Given the description of an element on the screen output the (x, y) to click on. 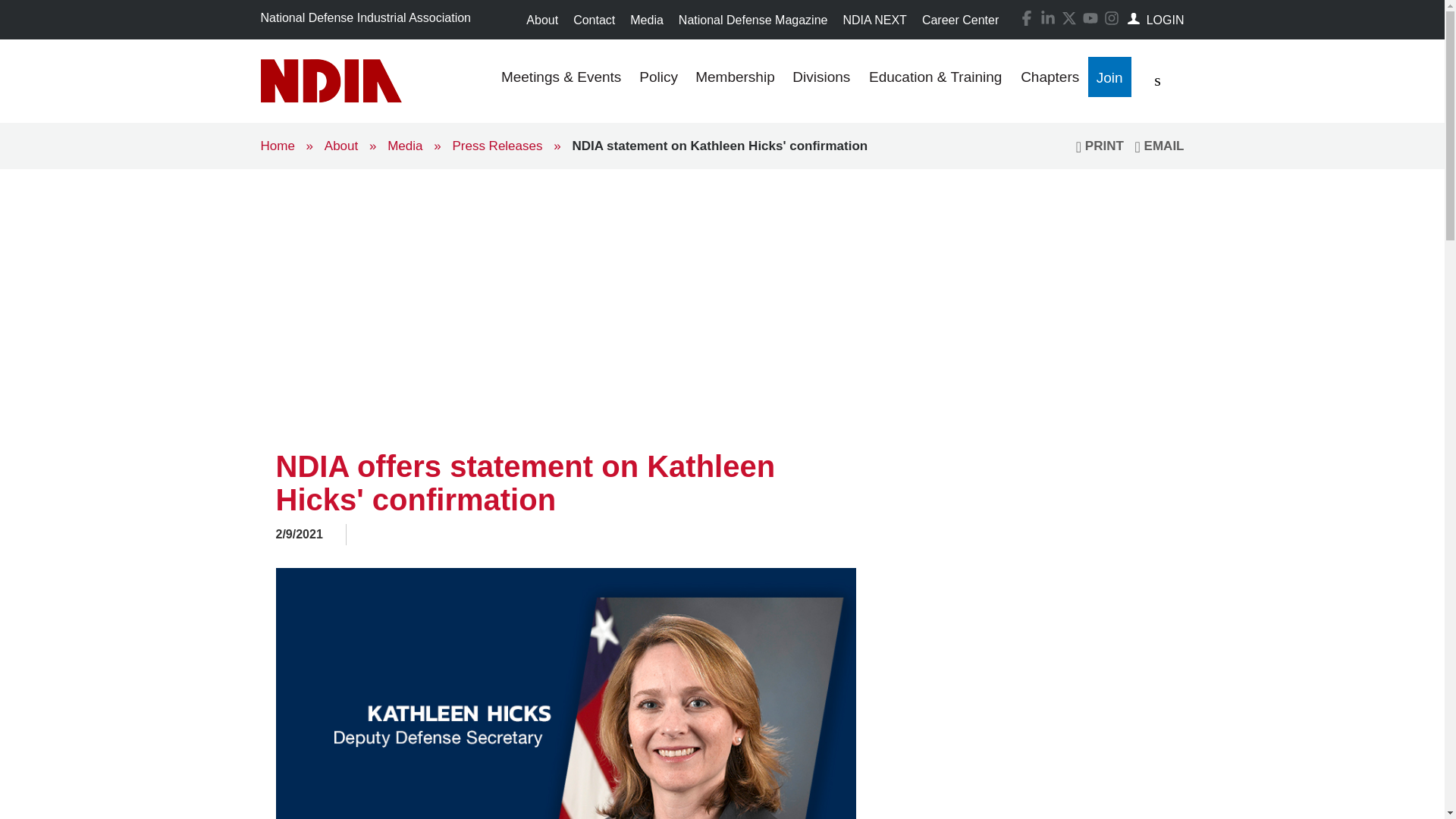
YouTube (1087, 17)
Twitter (1067, 17)
X (1069, 17)
Instagram (1109, 17)
Instagram (1111, 17)
Facebook (1026, 17)
YouTube (1090, 17)
Membership (734, 80)
National Defense Magazine (753, 19)
NDIA NEXT (874, 19)
LinkedIn (1045, 17)
LinkedIn (1048, 17)
Facebook (1023, 17)
Media (647, 19)
